Given the description of an element on the screen output the (x, y) to click on. 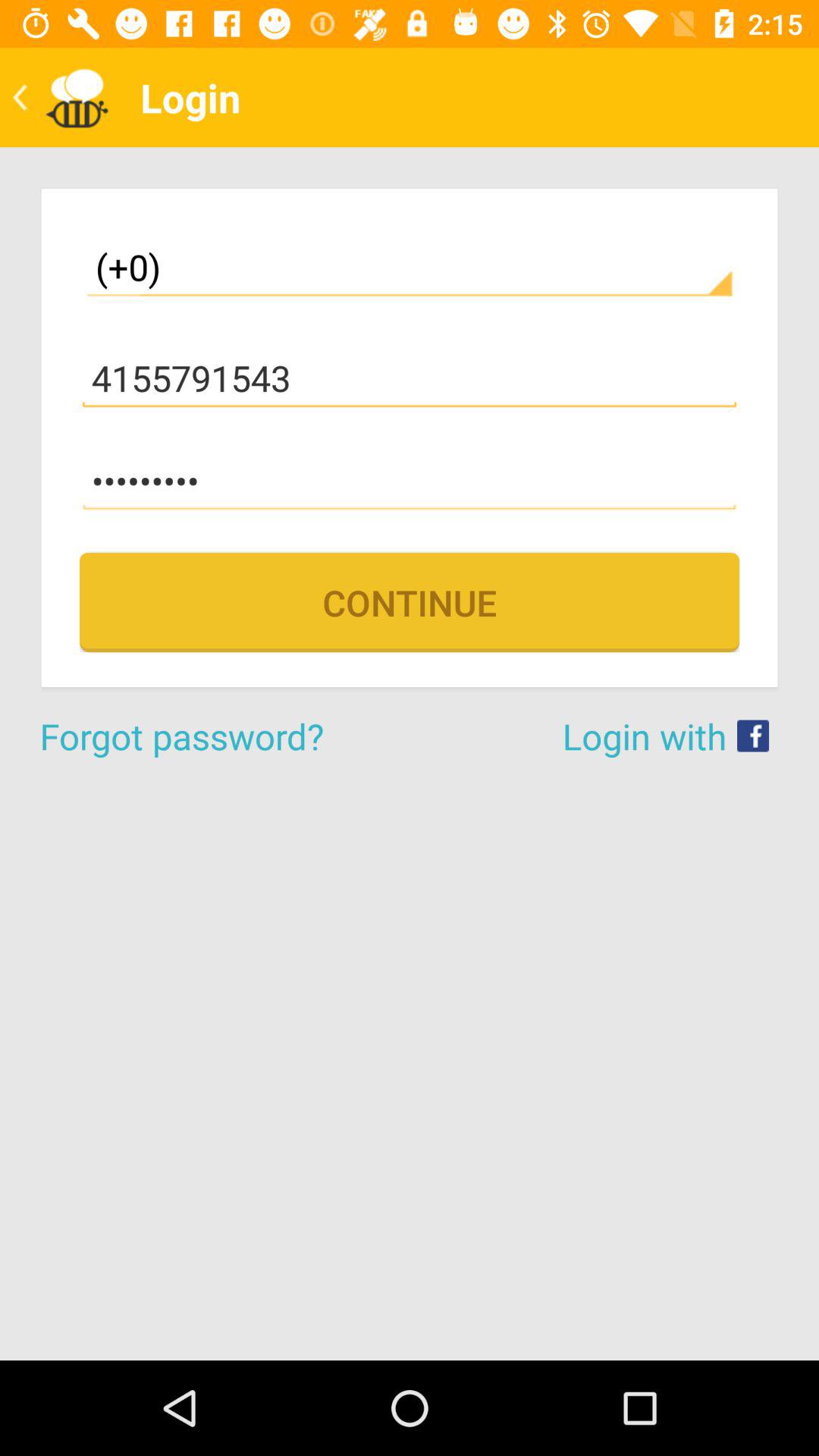
swipe until (+0) (409, 266)
